Given the description of an element on the screen output the (x, y) to click on. 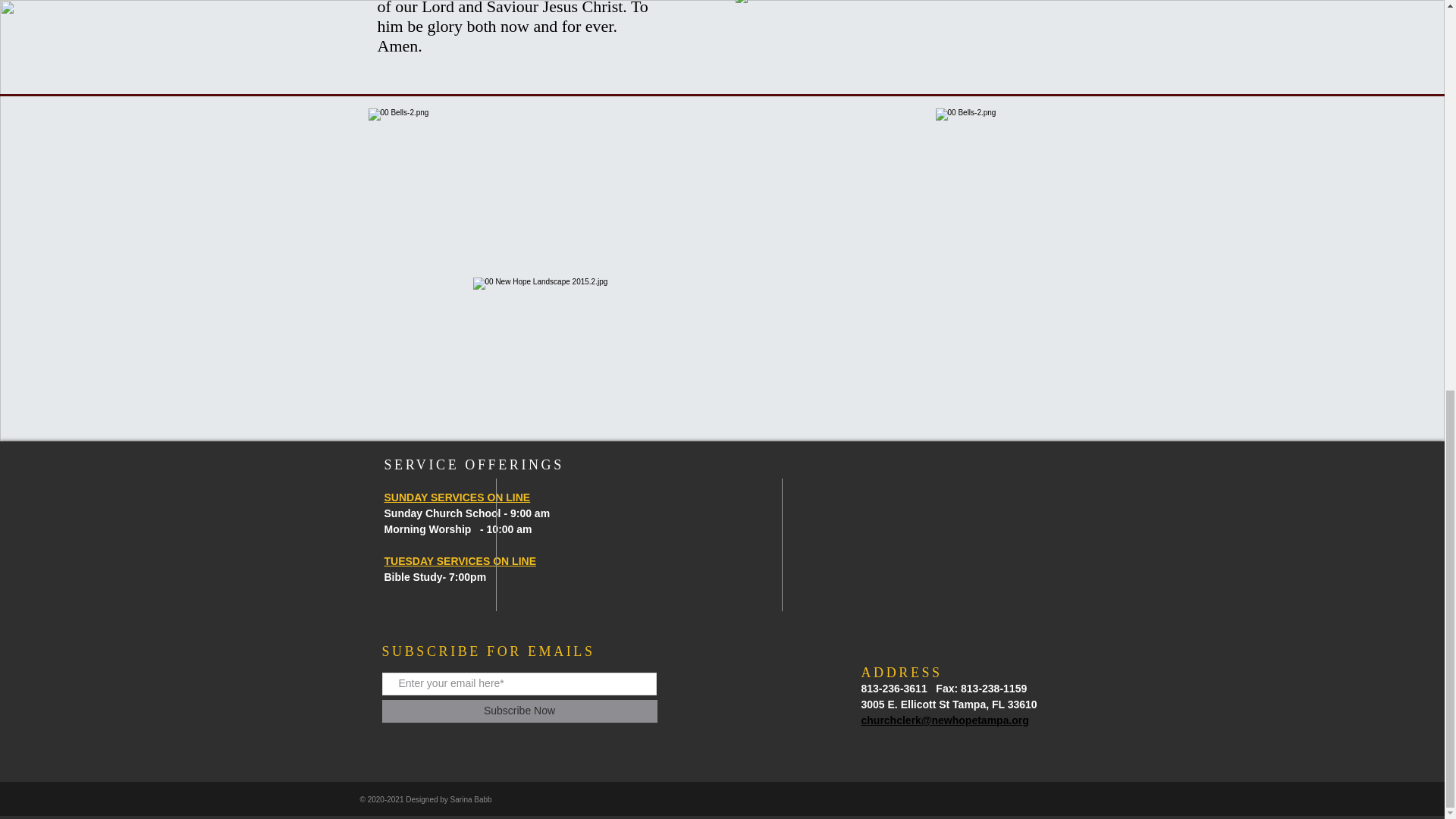
Subscribe Now (519, 711)
